Given the description of an element on the screen output the (x, y) to click on. 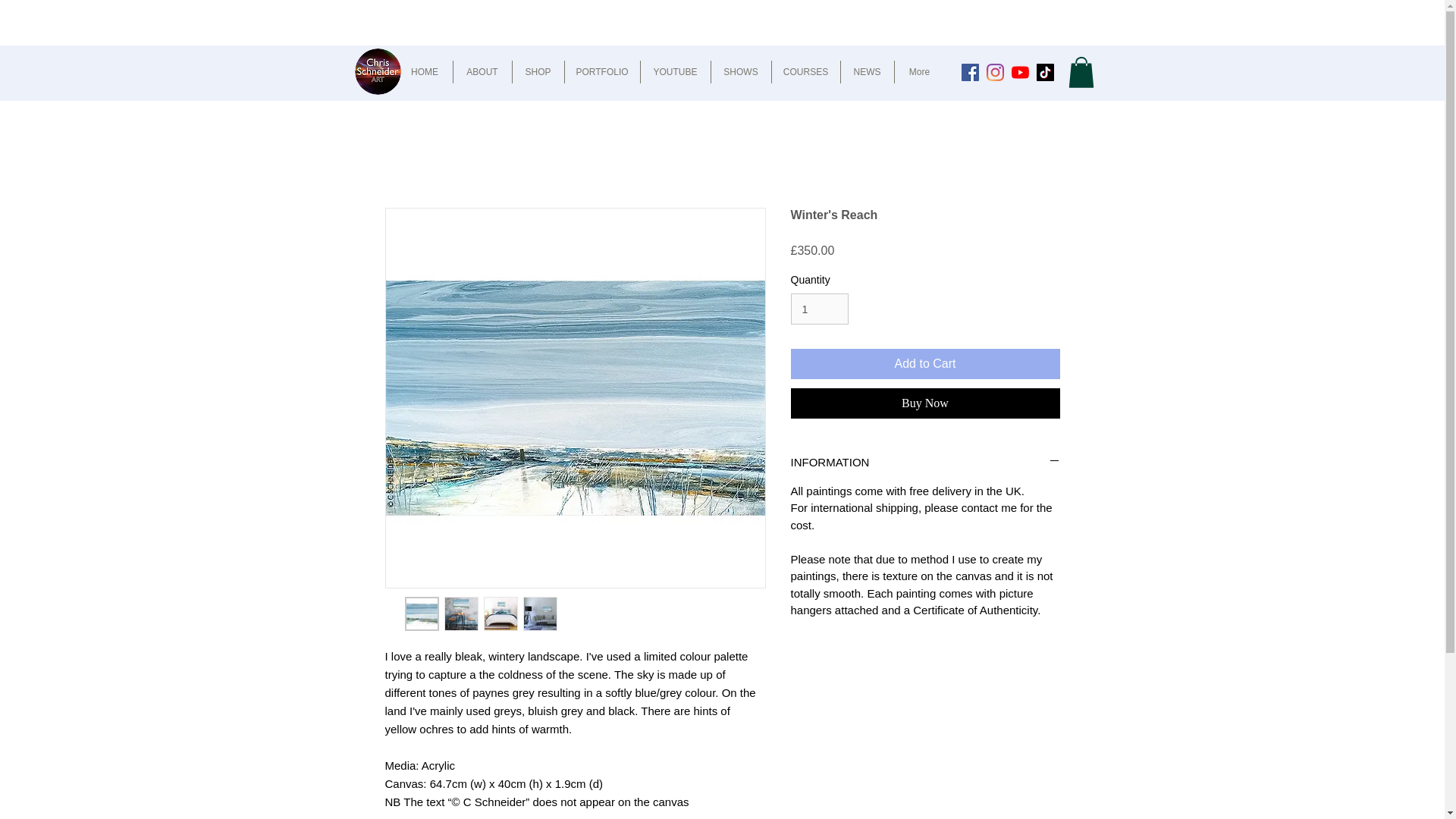
Add to Cart (924, 363)
1 (818, 308)
ABOUT (482, 71)
COURSES (805, 71)
SHOP (538, 71)
NEWS (866, 71)
HOME (424, 71)
YOUTUBE (675, 71)
PORTFOLIO (601, 71)
Buy Now (924, 403)
INFORMATION (924, 462)
SHOWS (741, 71)
